Given the description of an element on the screen output the (x, y) to click on. 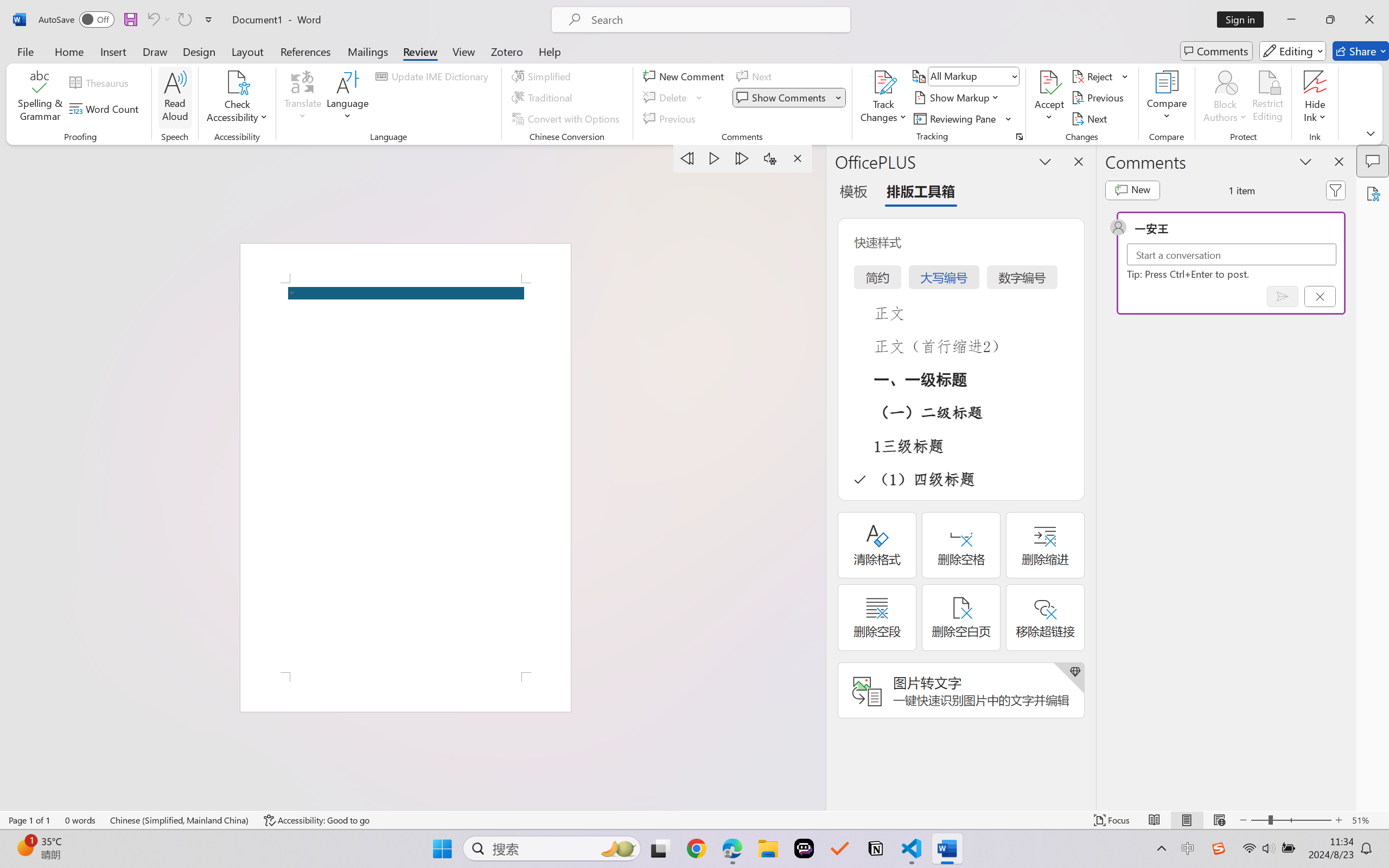
Track Changes (883, 97)
Show Comments (782, 97)
Display for Review (973, 75)
